Given the description of an element on the screen output the (x, y) to click on. 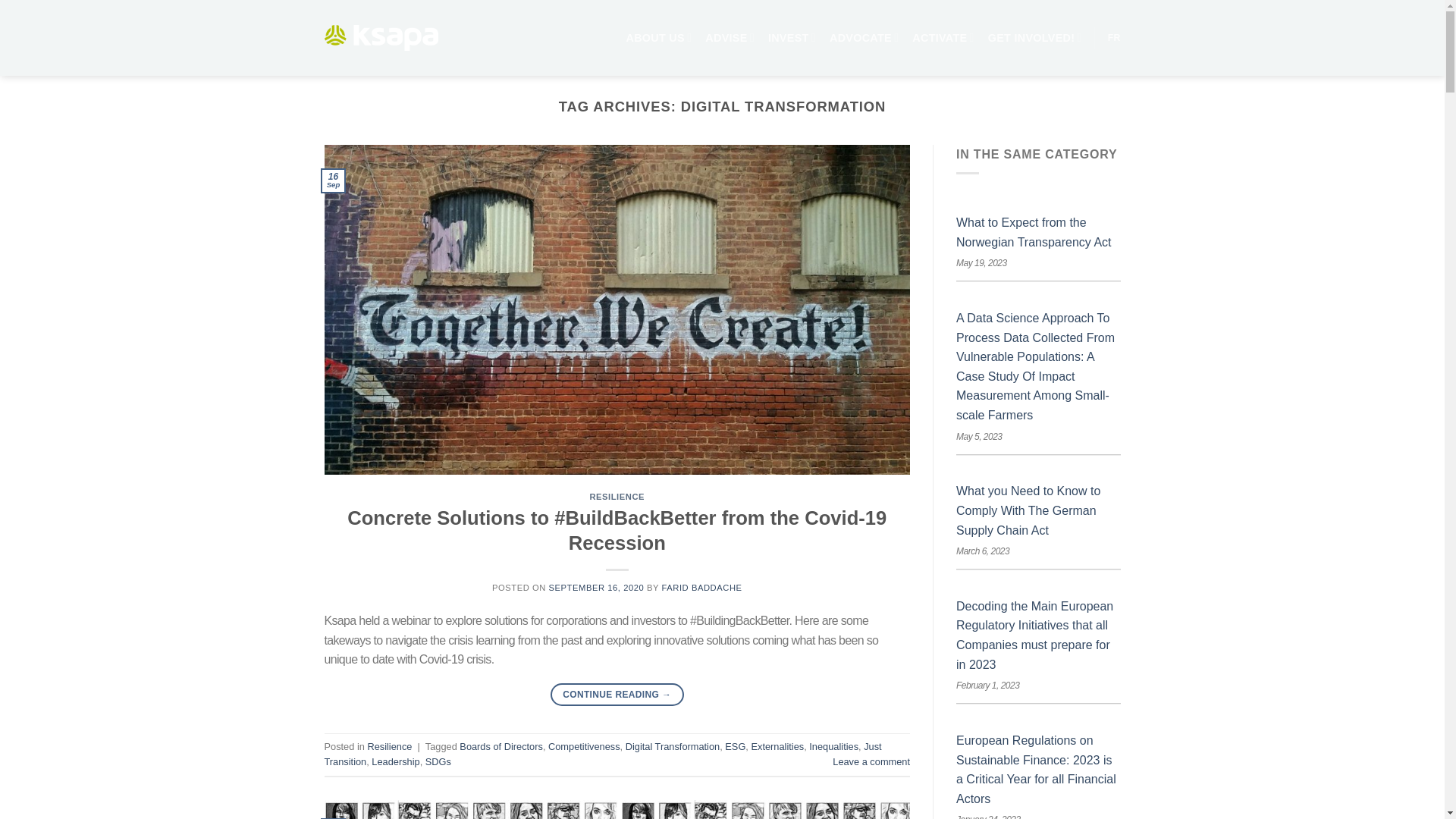
INVEST (791, 37)
FARID BADDACHE (701, 587)
ADVOCATE (863, 37)
RESILIENCE (617, 496)
ABOUT US (658, 37)
ACTIVATE (943, 37)
